Given the description of an element on the screen output the (x, y) to click on. 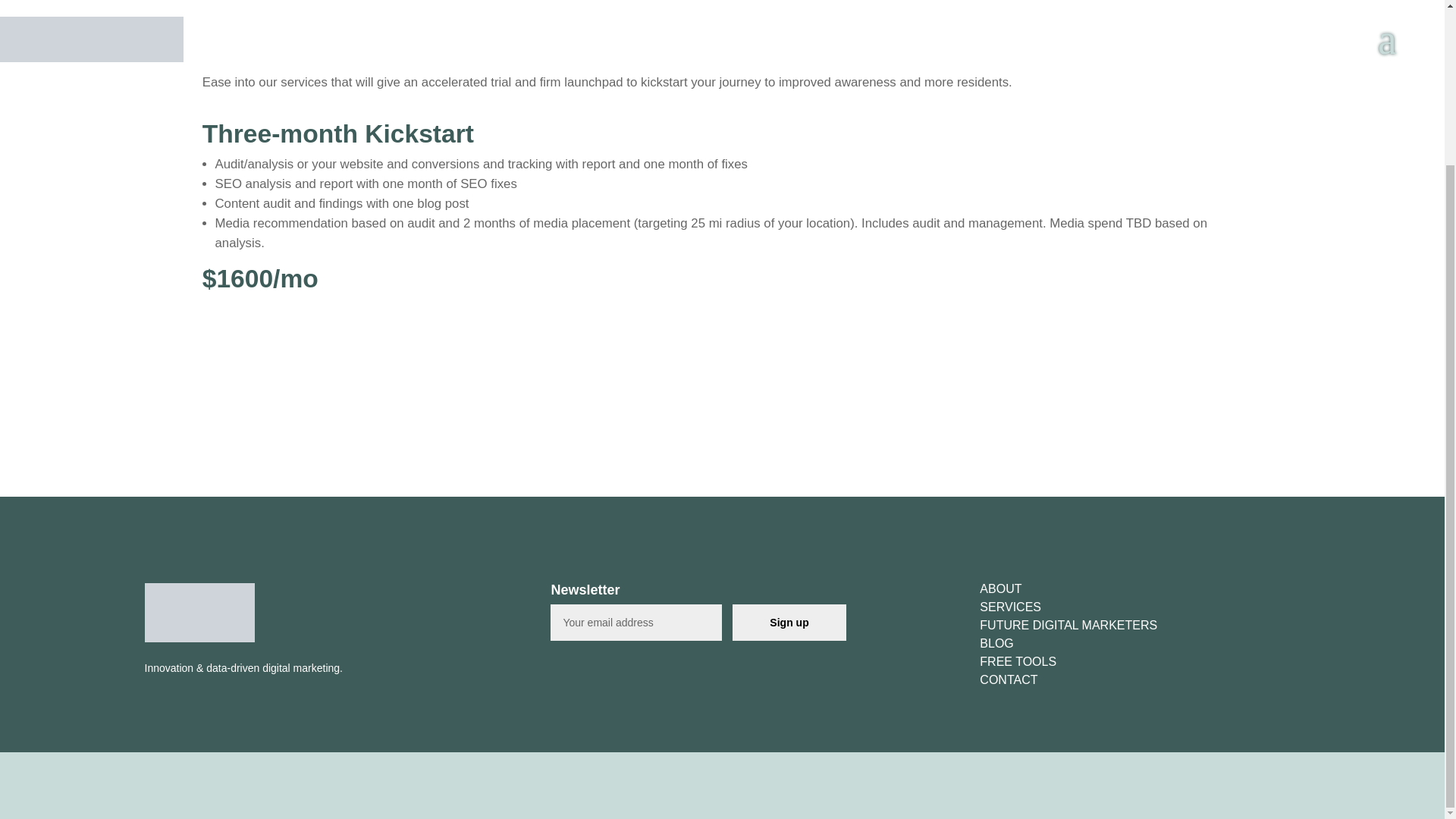
Follow on Instagram (1284, 796)
Home (315, 655)
Follow on Facebook (1224, 796)
10x digital (198, 612)
Follow on X (1254, 796)
Follow on LinkedIn (1315, 796)
Sign up (788, 622)
